Given the description of an element on the screen output the (x, y) to click on. 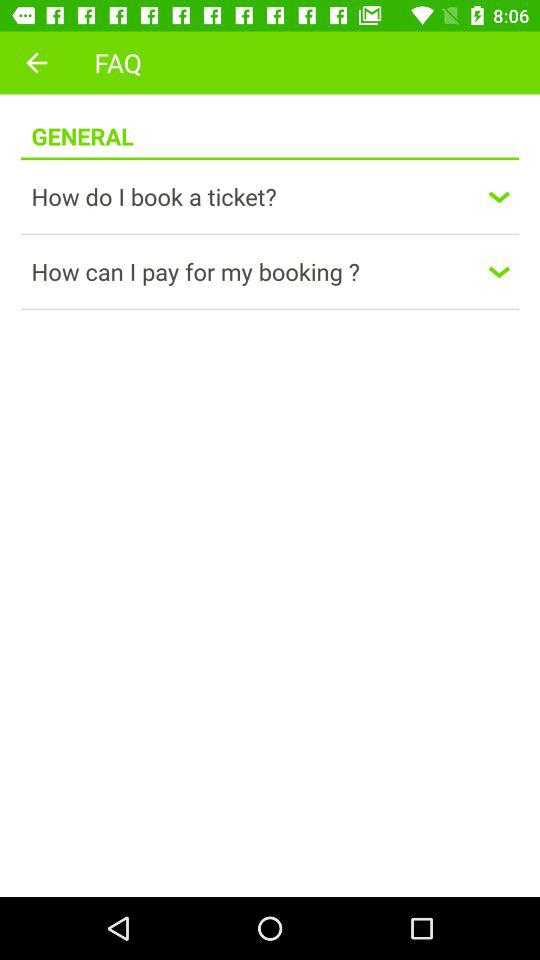
tap item below the general icon (270, 158)
